Given the description of an element on the screen output the (x, y) to click on. 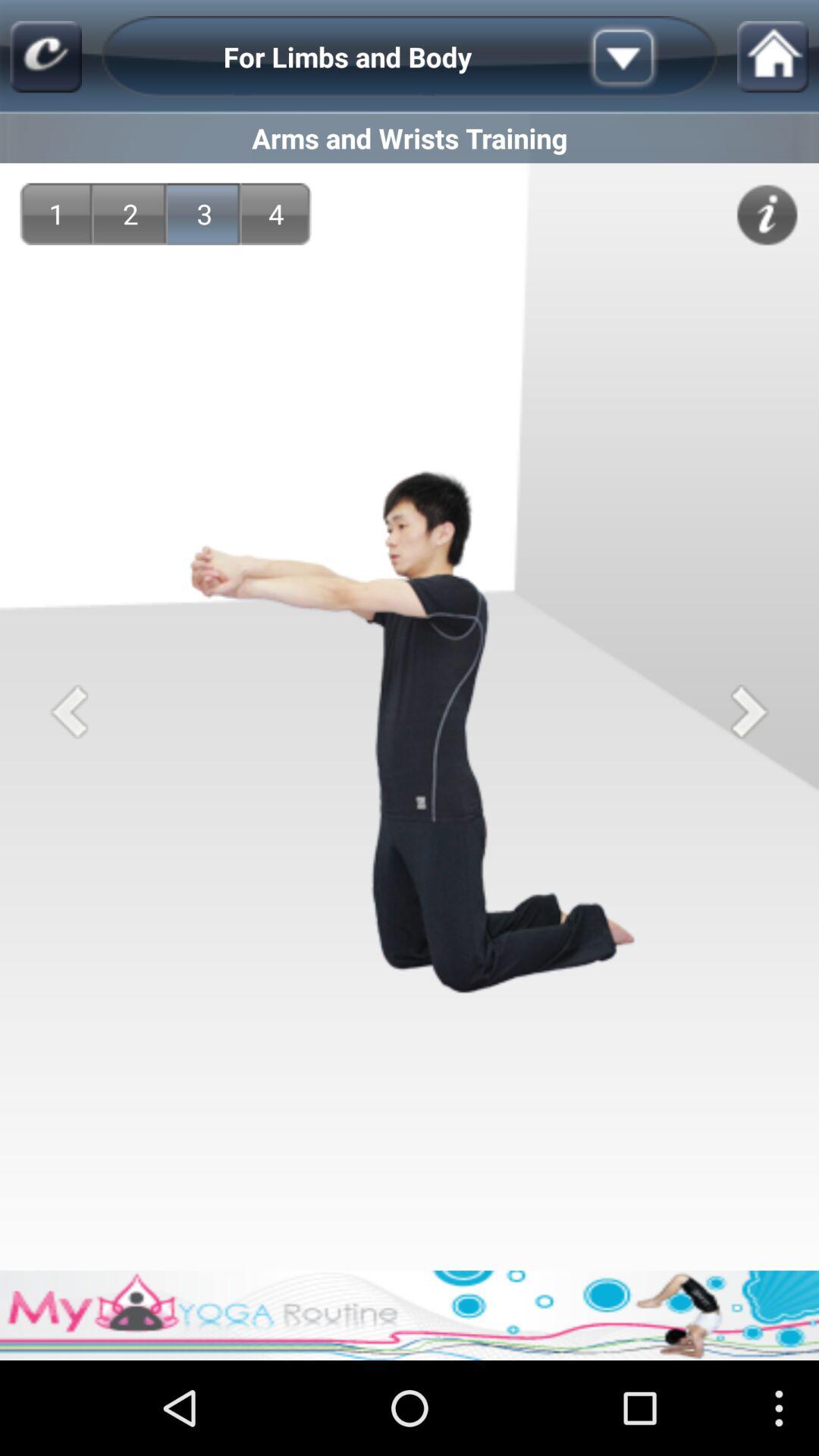
more information here (767, 214)
